Given the description of an element on the screen output the (x, y) to click on. 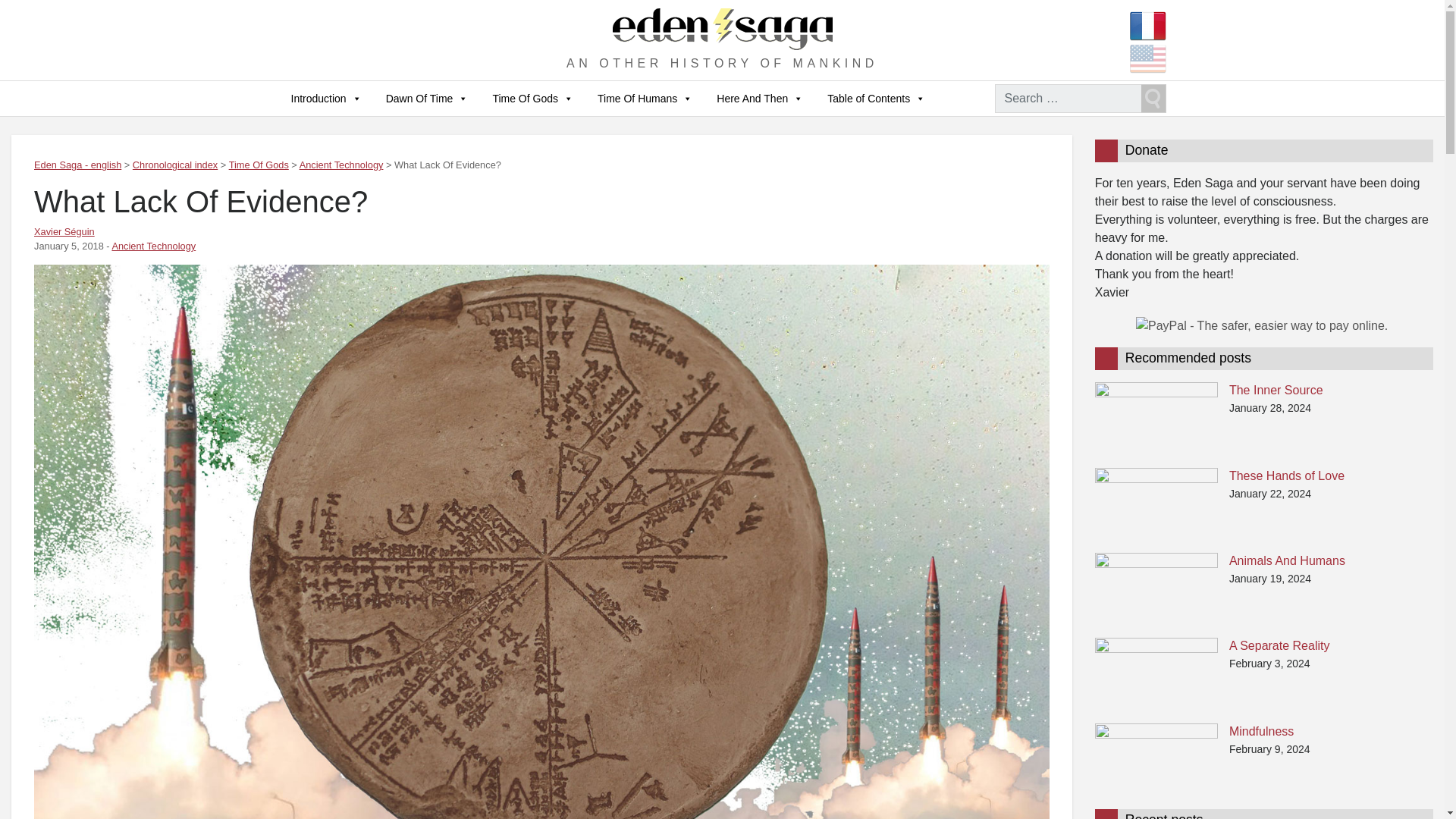
Go to the Ancient Technology Category archives. (341, 164)
A Separate Reality (1155, 673)
The Inner Source (1155, 418)
Go to Chronological index. (174, 164)
Time Of Gods (532, 98)
Go to Eden Saga - english. (76, 164)
Dawn Of Time (427, 98)
Animals And Humans (1155, 588)
These Hands of Love (1155, 503)
Mindfulness (1155, 758)
